Given the description of an element on the screen output the (x, y) to click on. 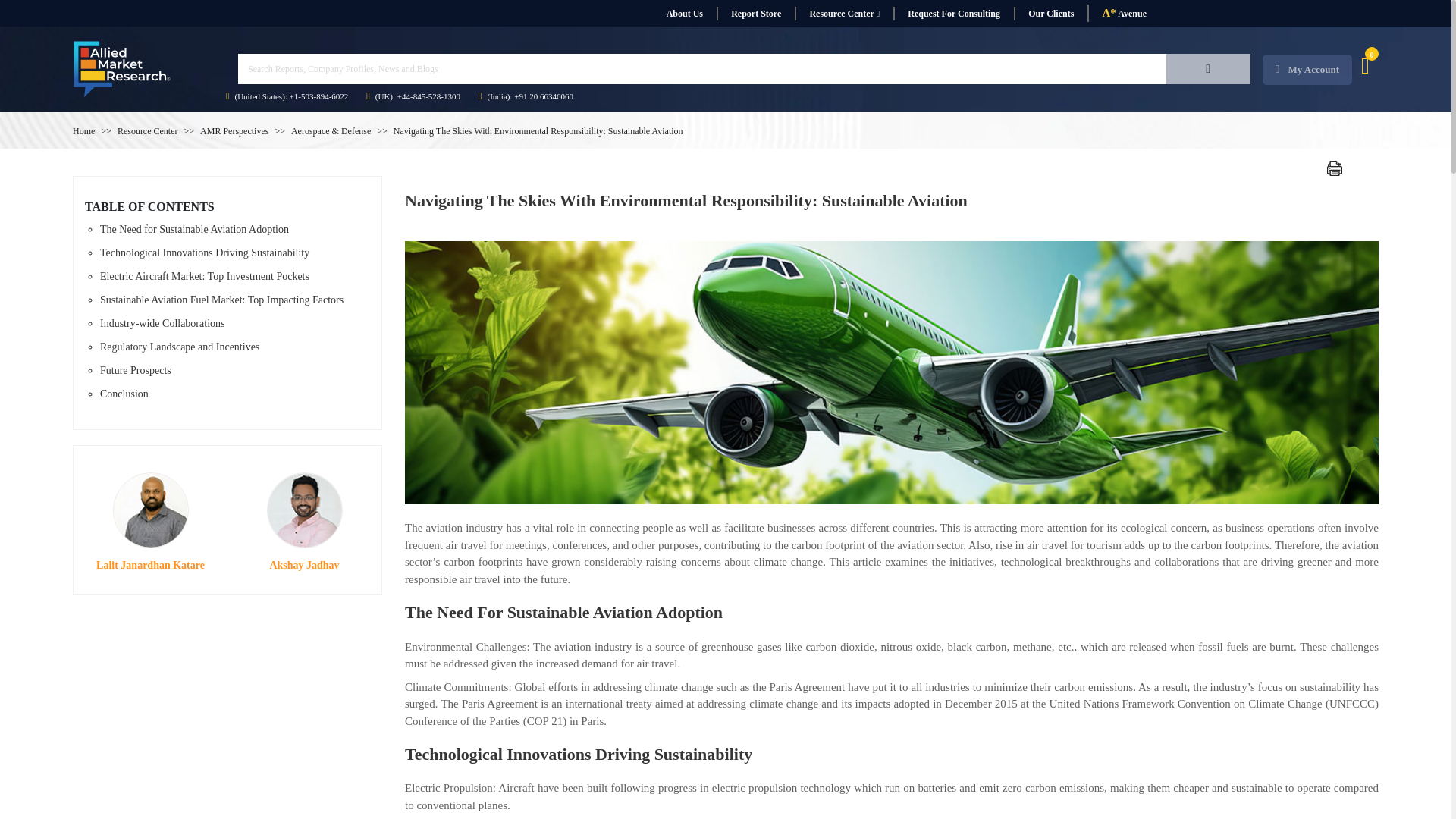
The Need for Sustainable Aviation Adoption (194, 229)
Future Prospects (135, 369)
Regulatory Landscape and Incentives (179, 346)
The Need for Sustainable Aviation Adoption (194, 229)
Our Clients (1050, 13)
Resource Center (147, 131)
Sustainable Aviation Fuel Market: Top Impacting Factors (221, 299)
Print PDF (1334, 168)
Resource Center (843, 13)
Technological Innovations Driving Sustainability (204, 252)
